Given the description of an element on the screen output the (x, y) to click on. 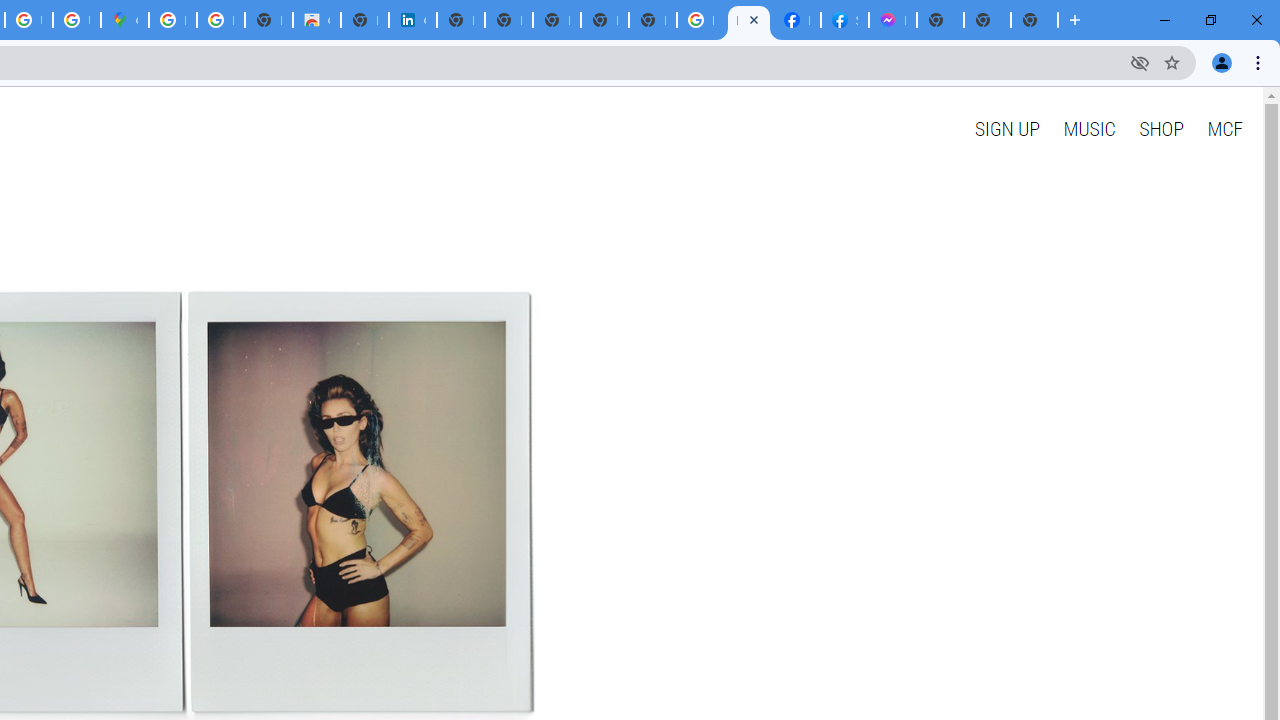
New Tab (1034, 20)
Cookie Policy | LinkedIn (412, 20)
MUSIC (1089, 128)
Third-party cookies blocked (1139, 62)
Google Maps (124, 20)
Miley Cyrus | Facebook (796, 20)
MCF (1224, 128)
